Given the description of an element on the screen output the (x, y) to click on. 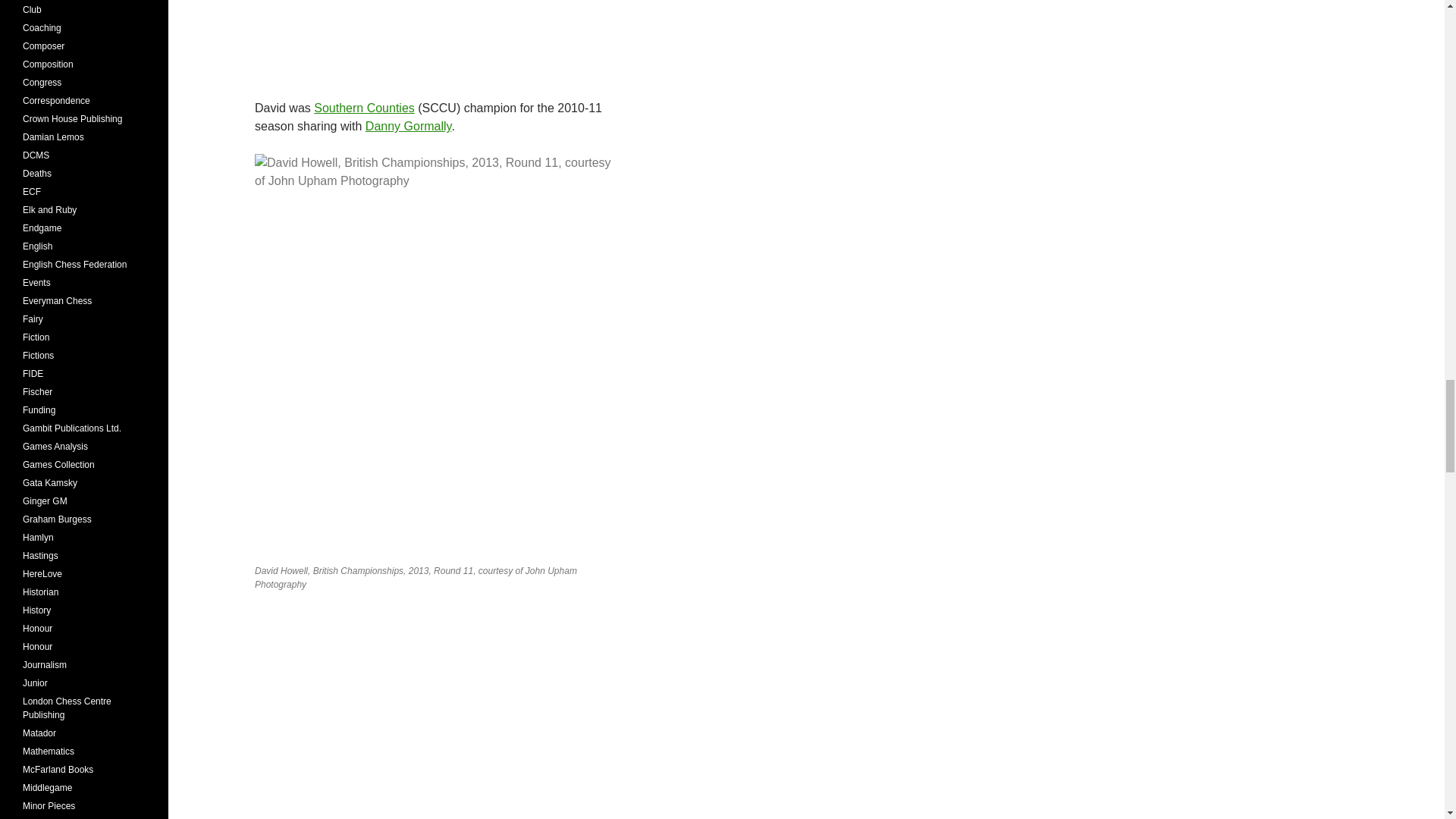
YouTube player (434, 710)
Danny Gormally (408, 125)
YouTube player (434, 38)
Southern Counties (364, 107)
